Given the description of an element on the screen output the (x, y) to click on. 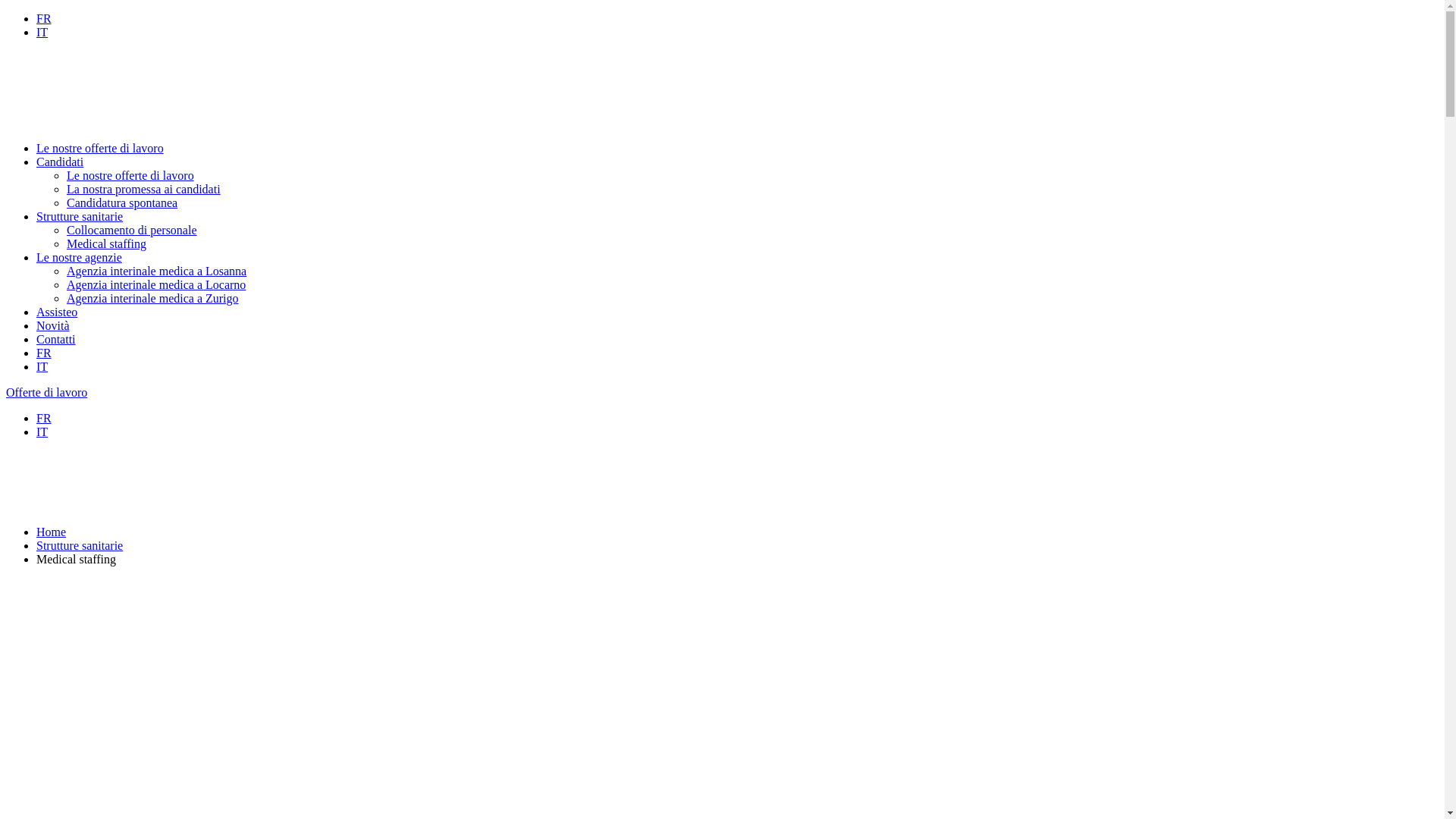
Medical staffing Element type: text (106, 243)
Strutture sanitarie Element type: text (79, 545)
FR Element type: text (43, 18)
FR Element type: text (43, 417)
Assisteo Element type: text (56, 311)
Agenzia interinale medica a Losanna Element type: text (156, 270)
FR Element type: text (43, 352)
Contatti Element type: text (55, 338)
Agenzia interinale medica a Zurigo Element type: text (152, 297)
IT Element type: text (41, 431)
Candidatura spontanea Element type: text (121, 202)
Agenzia interinale medica a Locarno Element type: text (155, 284)
IT Element type: text (41, 31)
Le nostre offerte di lavoro Element type: text (130, 175)
Strutture sanitarie Element type: text (79, 216)
IT Element type: text (41, 366)
Collocamento di personale Element type: text (131, 229)
La nostra promessa ai candidati Element type: text (143, 188)
Home Element type: text (50, 531)
Le nostre offerte di lavoro Element type: text (99, 147)
Offerte di lavoro Element type: text (46, 391)
Le nostre agenzie Element type: text (79, 257)
Candidati Element type: text (59, 161)
